Given the description of an element on the screen output the (x, y) to click on. 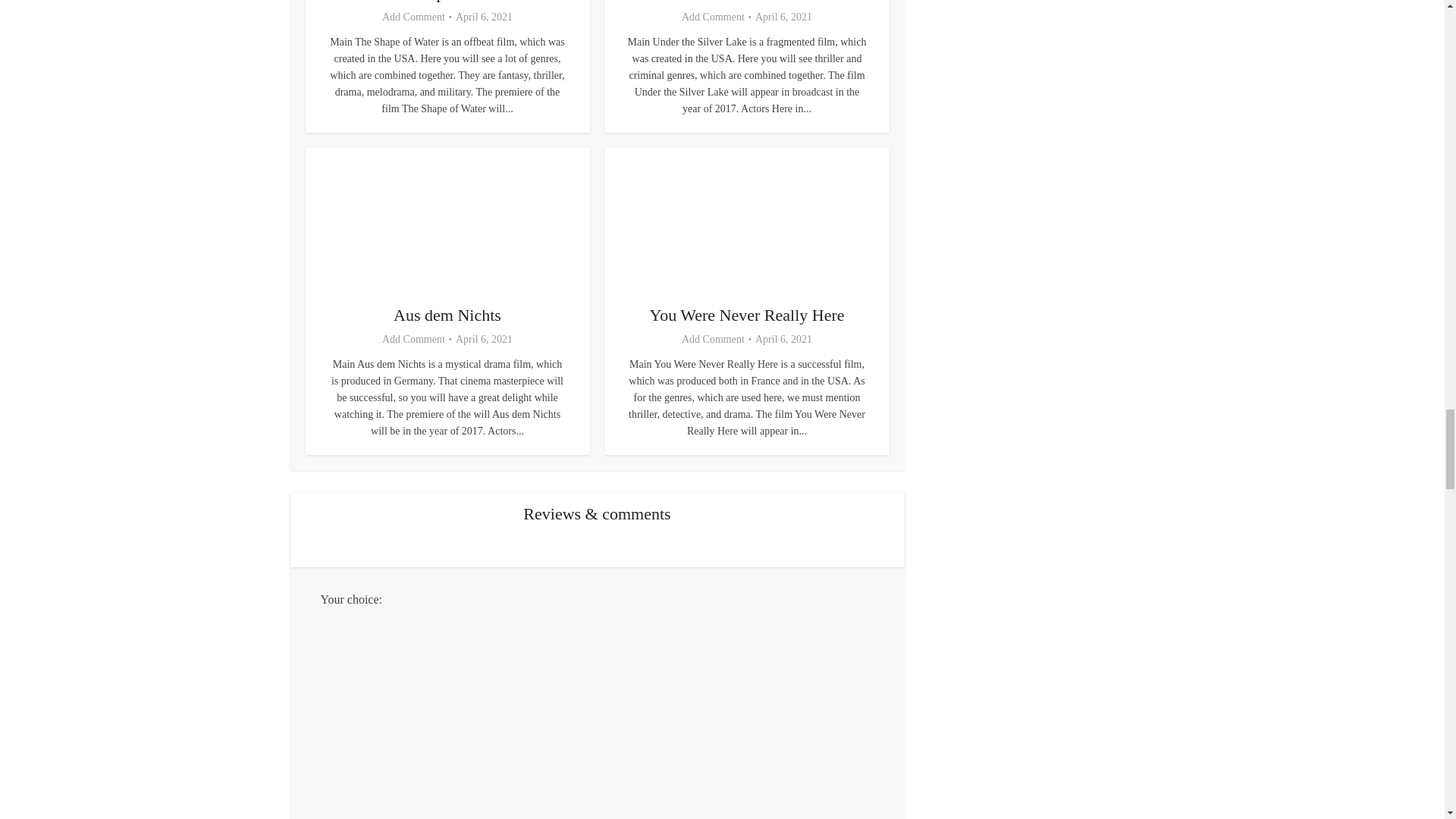
You Were Never Really Here (746, 314)
Add Comment (712, 17)
Under the Silver Lake (746, 1)
1 Star (612, 714)
Under the Silver Lake (746, 1)
Add Comment (413, 17)
Add Comment (413, 339)
You Were Never Really Here (746, 314)
Aus dem Nichts (446, 314)
The Shape of Water (447, 1)
